Given the description of an element on the screen output the (x, y) to click on. 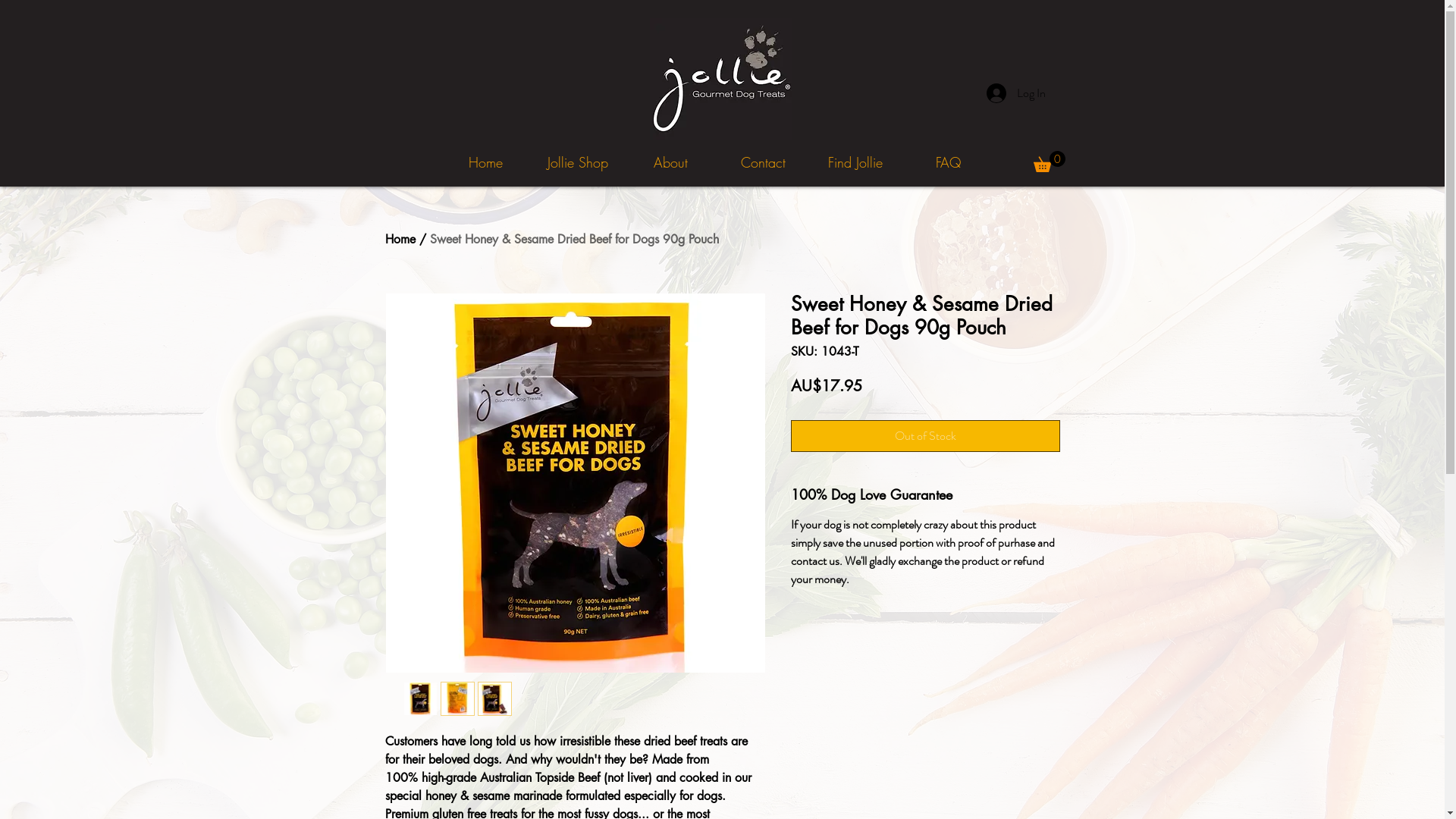
Find Jollie Element type: text (855, 162)
Home Element type: text (400, 239)
Contact Element type: text (762, 162)
Out of Stock Element type: text (924, 435)
Sweet Honey & Sesame Dried Beef for Dogs 90g Pouch Element type: text (573, 239)
Jollie Shop Element type: text (577, 162)
0 Element type: text (1048, 161)
Log In Element type: text (1015, 92)
Home Element type: text (485, 162)
FAQ Element type: text (947, 162)
About Element type: text (670, 162)
